Given the description of an element on the screen output the (x, y) to click on. 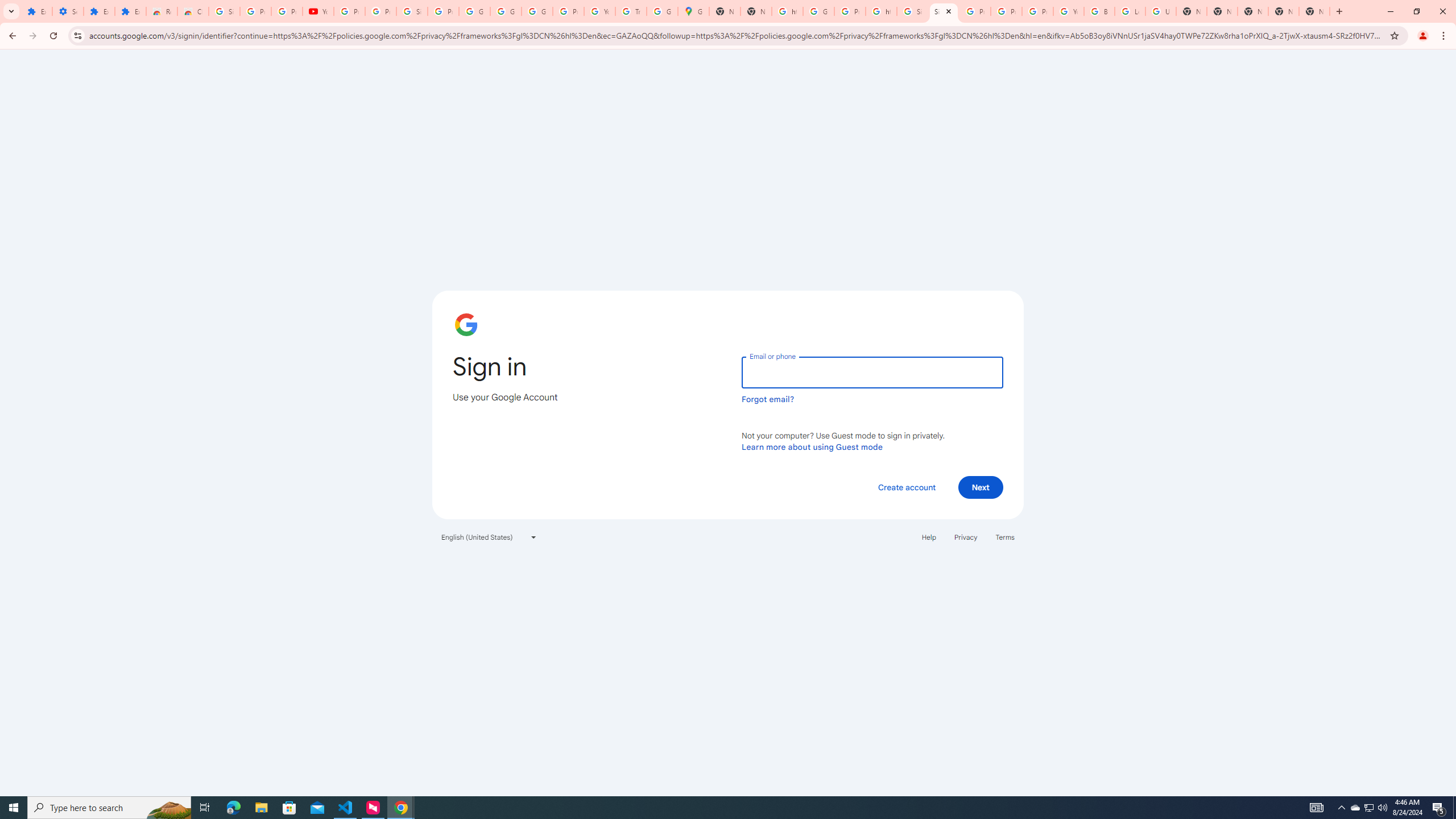
Privacy Help Center - Policies Help (974, 11)
Reviews: Helix Fruit Jump Arcade Game (161, 11)
Google Account (505, 11)
Sign in - Google Accounts (223, 11)
Extensions (130, 11)
https://scholar.google.com/ (787, 11)
Email or phone (871, 372)
